Given the description of an element on the screen output the (x, y) to click on. 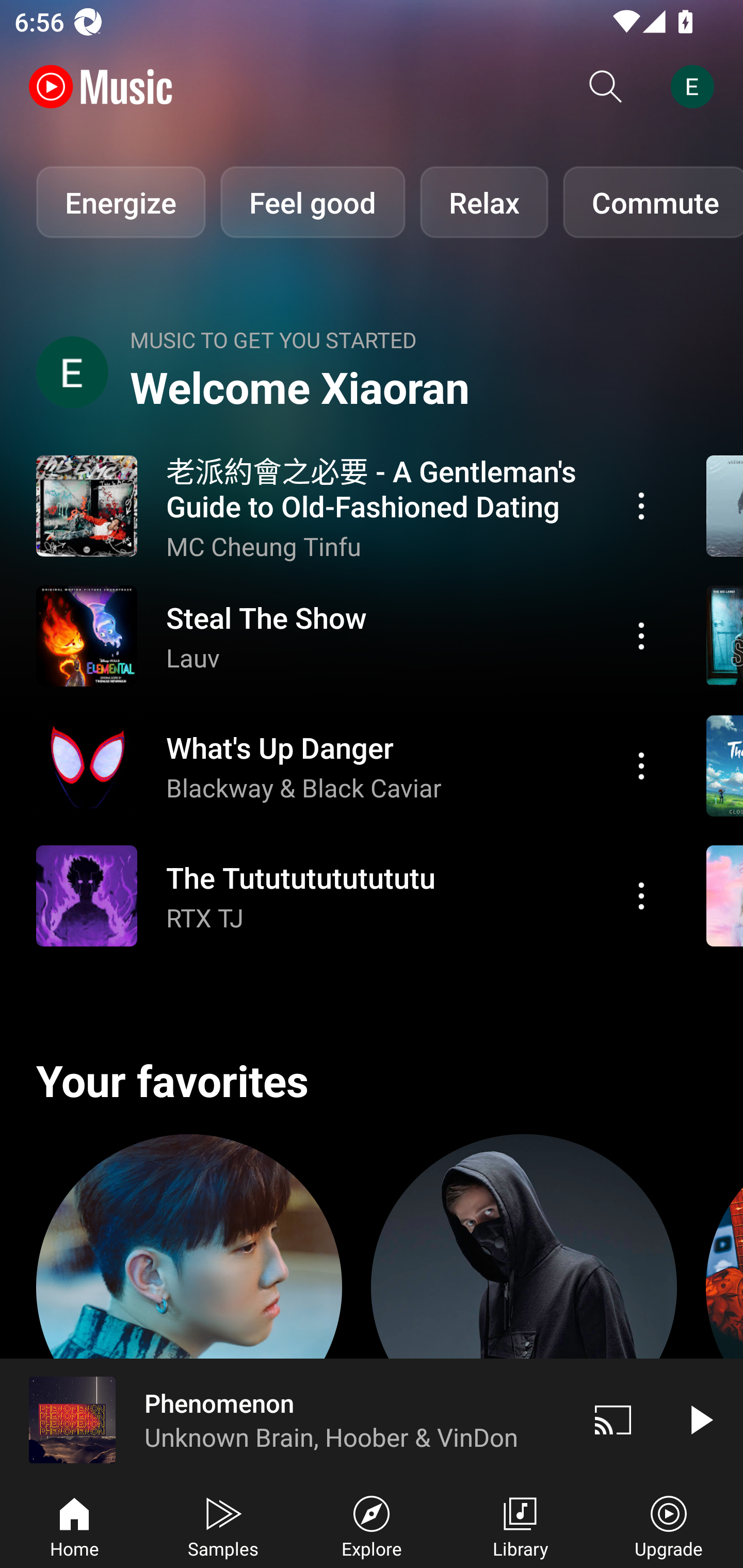
Search (605, 86)
Account (696, 86)
Action menu (349, 505)
Action menu (641, 505)
Action menu (349, 635)
Action menu (641, 635)
Action menu (349, 765)
Action menu (641, 765)
Action menu (349, 896)
Action menu (641, 896)
Phenomenon Unknown Brain, Hoober & VinDon (284, 1419)
Cast. Disconnected (612, 1419)
Play video (699, 1419)
Home (74, 1524)
Samples (222, 1524)
Explore (371, 1524)
Library (519, 1524)
Upgrade (668, 1524)
